Given the description of an element on the screen output the (x, y) to click on. 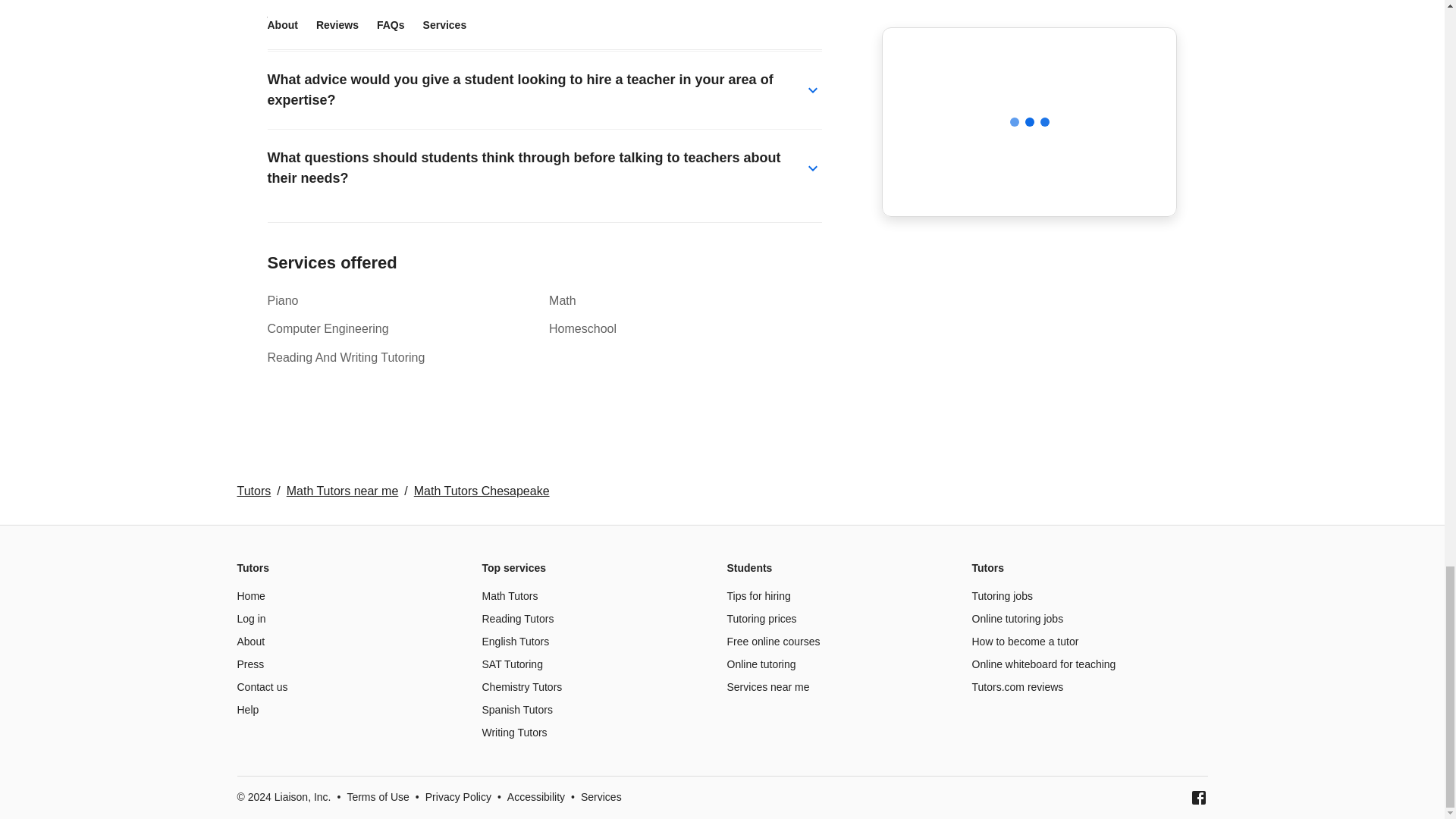
Log in (249, 618)
About (249, 641)
Press (249, 664)
Math Tutors Chesapeake (481, 490)
Home (249, 595)
Tutors (252, 490)
Math Tutors near me (342, 490)
Contact us (260, 686)
Facebook (1198, 797)
